Given the description of an element on the screen output the (x, y) to click on. 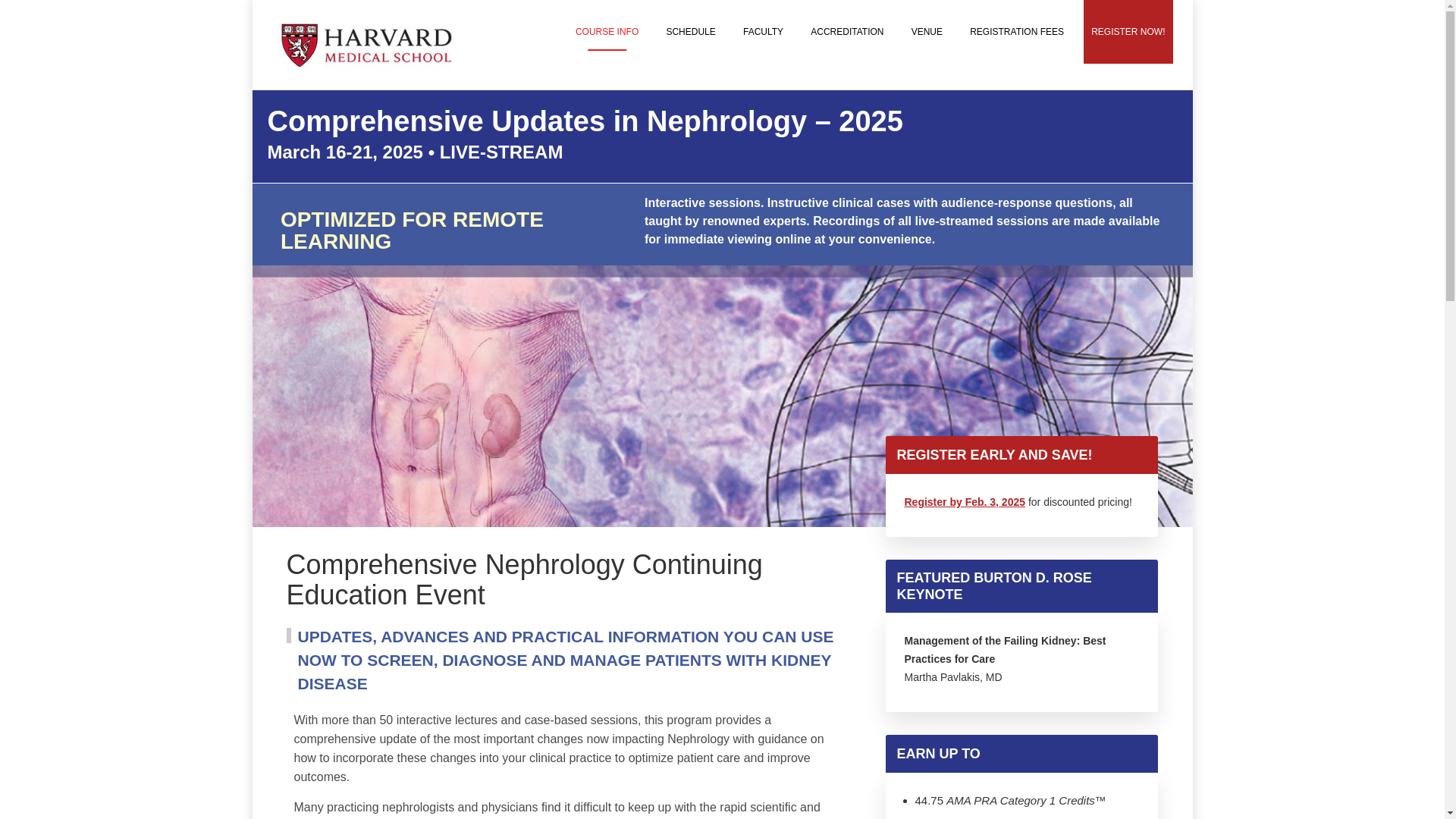
Logo (366, 44)
Register by Feb. 3, 2025 (964, 501)
ACCREDITATION (847, 31)
SCHEDULE (690, 31)
COURSE INFO (606, 31)
REGISTRATION FEES (1016, 31)
REGISTER NOW! (1127, 31)
